Given the description of an element on the screen output the (x, y) to click on. 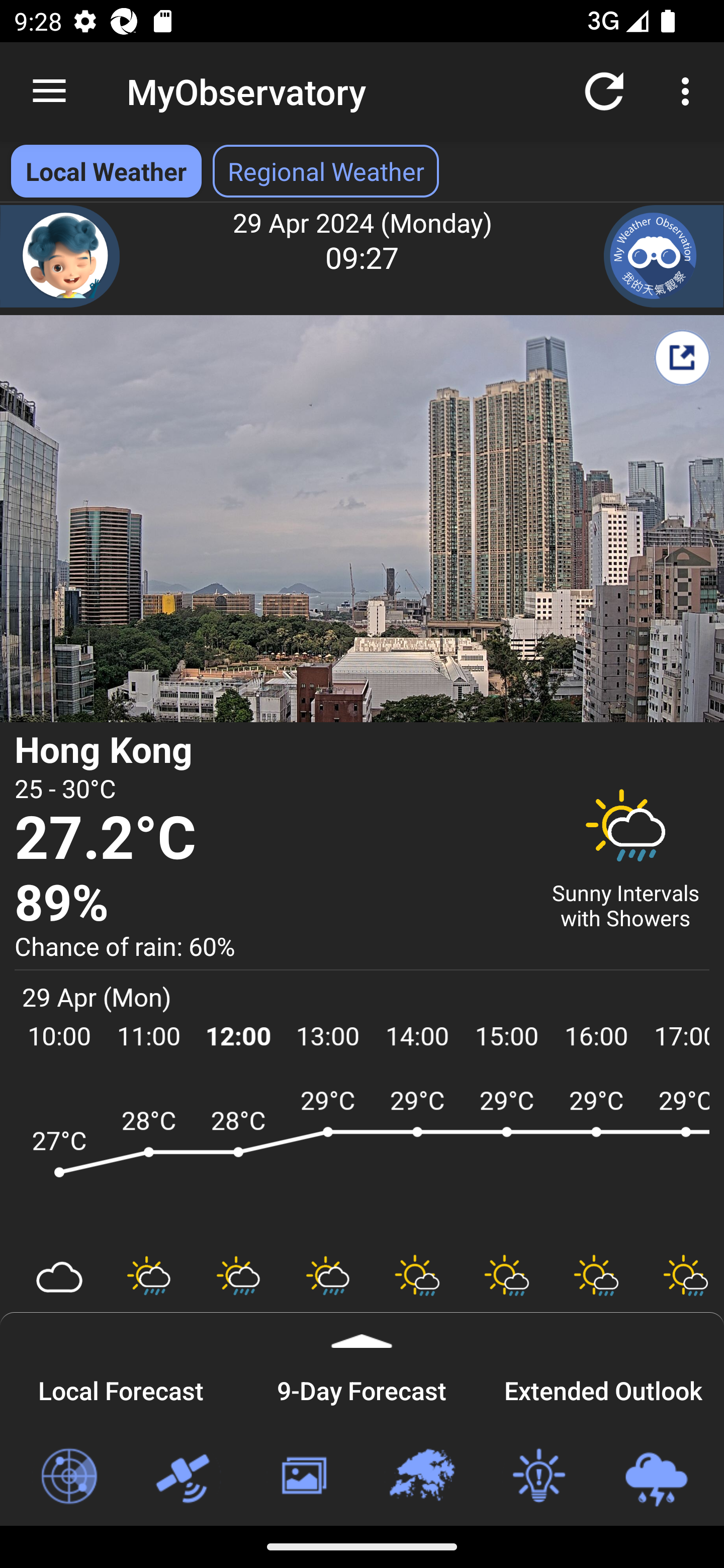
Navigate up (49, 91)
Refresh (604, 90)
More options (688, 90)
Local Weather Local Weather selected (105, 170)
Regional Weather Select Regional Weather (325, 170)
Chatbot (60, 256)
My Weather Observation (663, 256)
Share My Weather Report (681, 357)
27.2°C Temperature
27.2 degree Celsius (270, 839)
89% Relative Humidity
89 percent (270, 903)
ARWF (361, 1160)
Expand (362, 1330)
Local Forecast (120, 1387)
Extended Outlook (603, 1387)
Radar Images (68, 1476)
Satellite Images (185, 1476)
Weather Photos (302, 1476)
Regional Weather (420, 1476)
Weather Tips (537, 1476)
Loc-based Rain & Lightning Forecast (655, 1476)
